Given the description of an element on the screen output the (x, y) to click on. 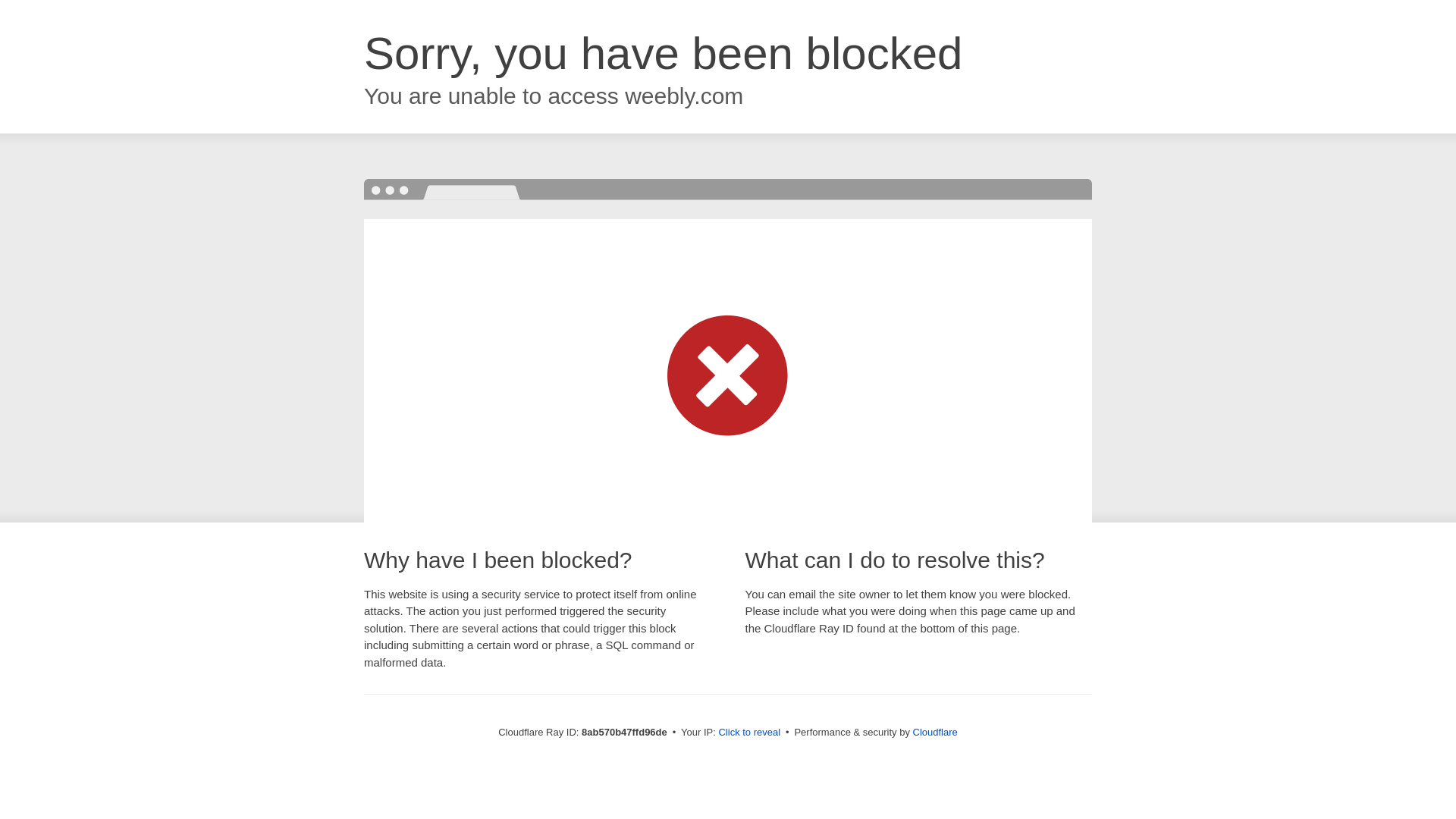
Click to reveal (748, 732)
Cloudflare (935, 731)
